Given the description of an element on the screen output the (x, y) to click on. 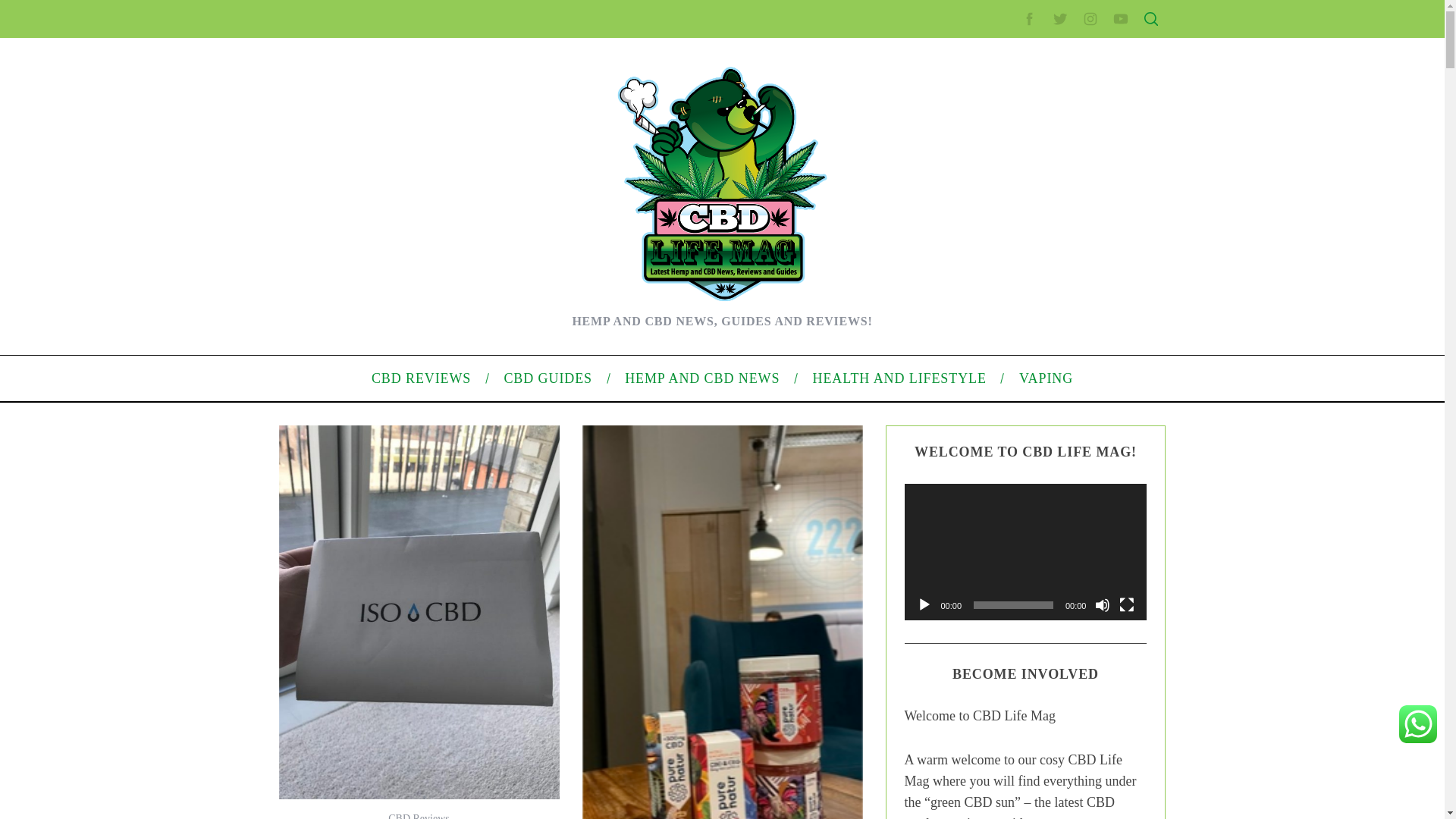
Log in (980, 588)
ADMINISTRATOR (417, 118)
Contact Us (991, 258)
Search (1050, 85)
Blog (976, 510)
Search (1050, 85)
CUPCAKEDELIGHTS.CO.UK (433, 28)
Privacy Policy (999, 306)
Search (1050, 85)
August 2020 (996, 432)
published here (453, 411)
Search for: (1049, 47)
Disclaimer (990, 354)
Latest Article (996, 172)
Terms of Use (996, 330)
